Given the description of an element on the screen output the (x, y) to click on. 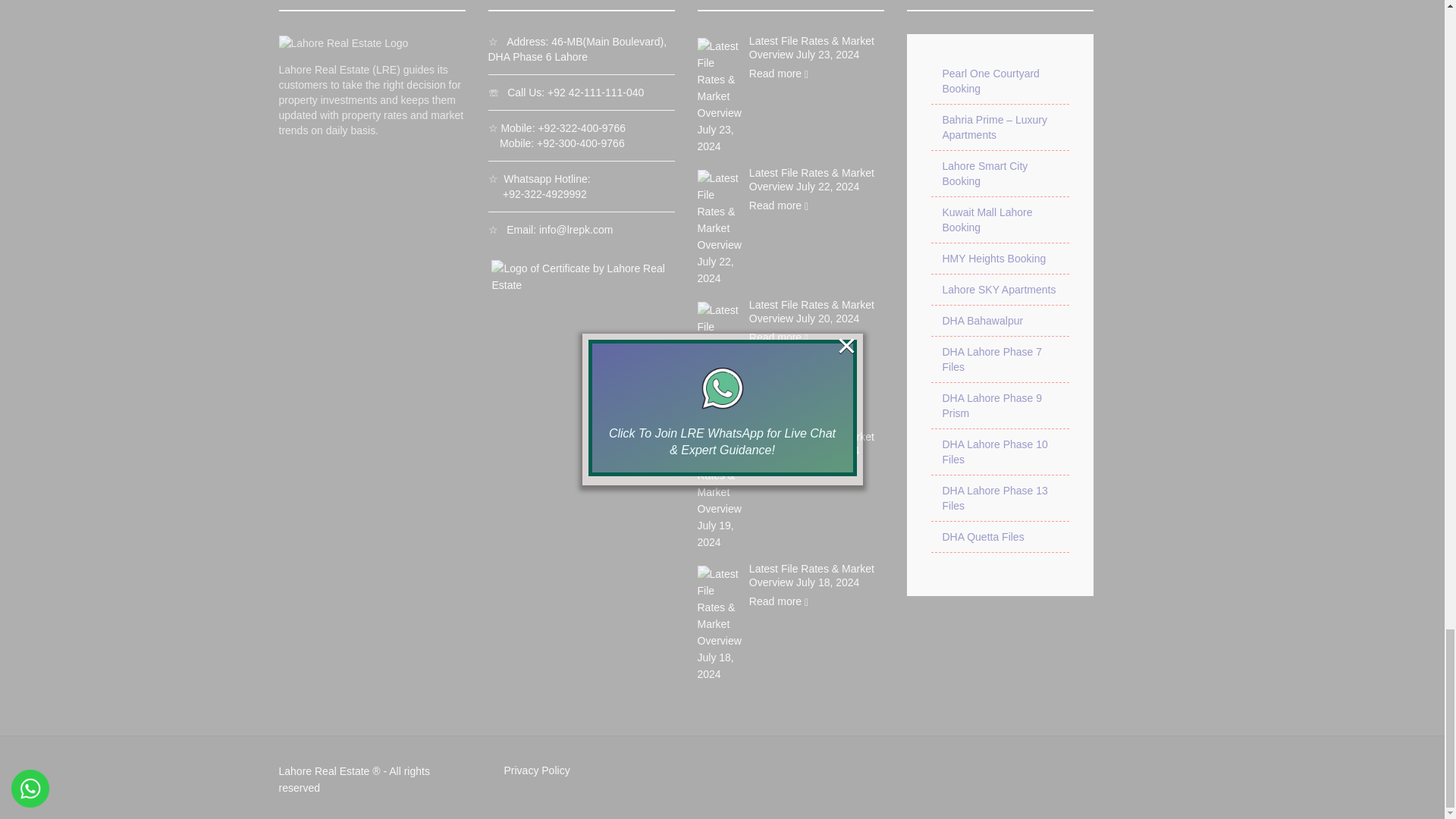
Logo of Certificate by Lahore Real Estate (580, 276)
